Given the description of an element on the screen output the (x, y) to click on. 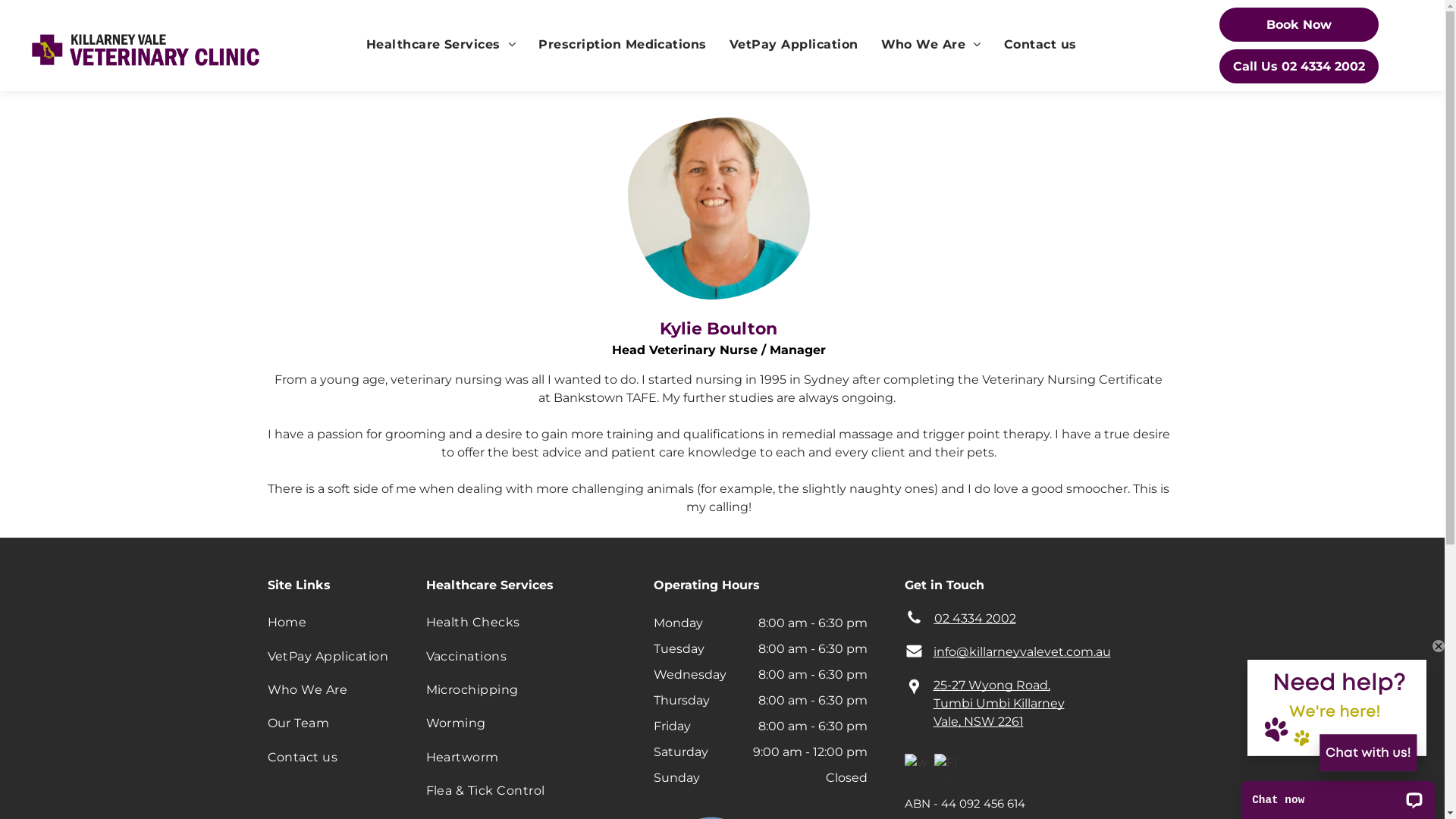
Book Now Element type: text (1298, 24)
Healthcare Services Element type: text (440, 44)
02 4334 2002 Element type: text (975, 618)
Who We Are Element type: text (329, 689)
Vaccinations Element type: text (533, 655)
VetPay Application Element type: text (793, 44)
Prescription Medications Element type: text (622, 44)
Contact us Element type: text (1040, 44)
Health Checks Element type: text (533, 622)
www.localsearch.com.au Element type: hover (915, 765)
VetPay Application Element type: text (329, 655)
Our Team Element type: text (329, 723)
Contact us Element type: text (329, 756)
Find Us On GMB Element type: hover (946, 765)
25-27 Wyong Road, Tumbi Umbi Killarney Vale, NSW 2261 Element type: text (997, 702)
info@killarneyvalevet.com.au Element type: text (1021, 651)
Flea & Tick Control Element type: text (533, 790)
Worming Element type: text (533, 723)
Home Element type: text (329, 622)
Call Us 02 4334 2002 Element type: text (1298, 66)
Microchipping Element type: text (533, 689)
Heartworm Element type: text (533, 756)
Who We Are Element type: text (930, 44)
